Given the description of an element on the screen output the (x, y) to click on. 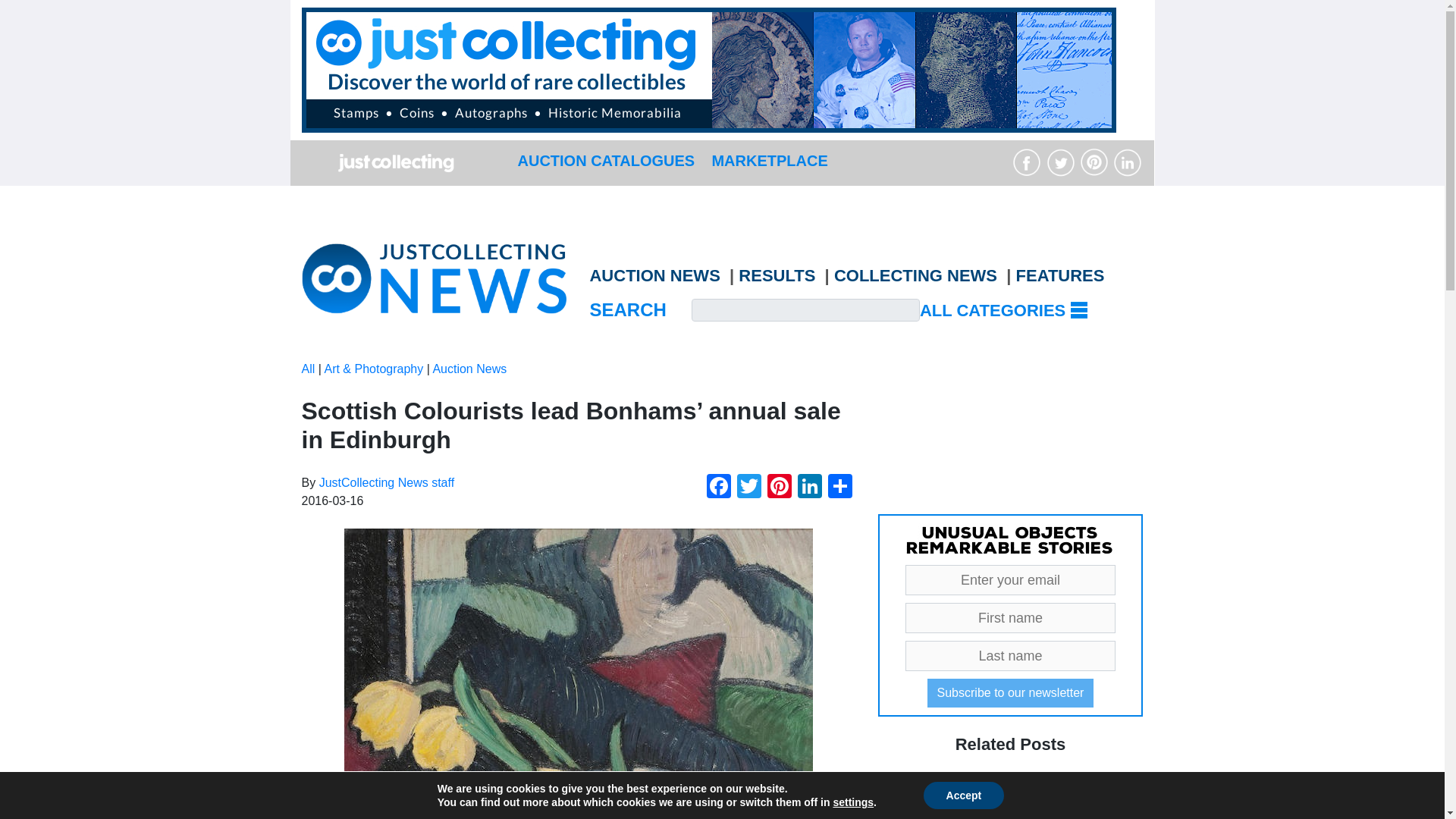
Posts by JustCollecting News staff (386, 481)
Pinterest (779, 488)
Search for... (805, 309)
LinkedIn (809, 488)
AUCTION CATALOGUES (605, 160)
Twitter (748, 488)
Subscribe to our newsletter (1010, 692)
Facebook (718, 488)
